Given the description of an element on the screen output the (x, y) to click on. 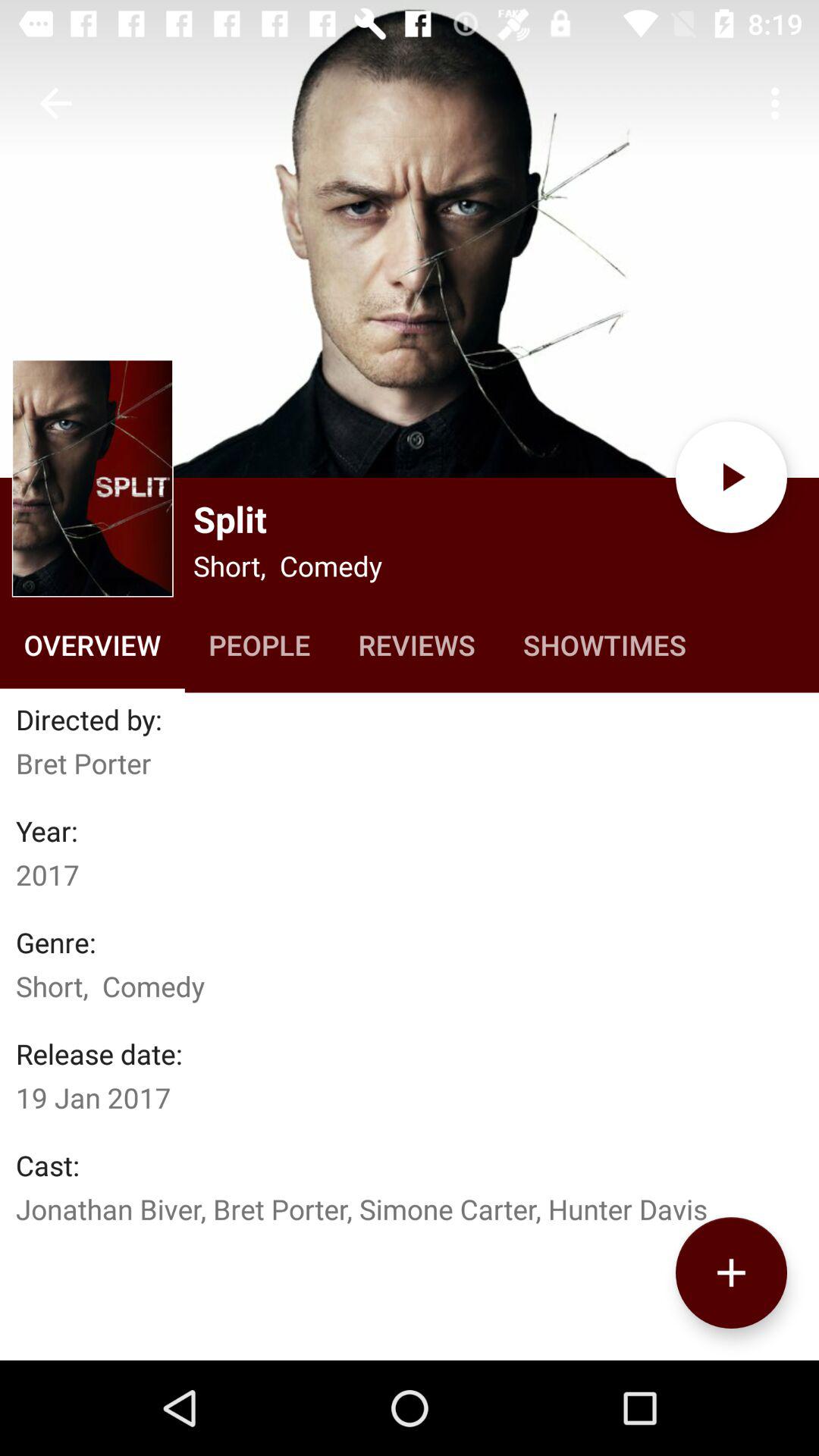
movie photo (409, 238)
